Given the description of an element on the screen output the (x, y) to click on. 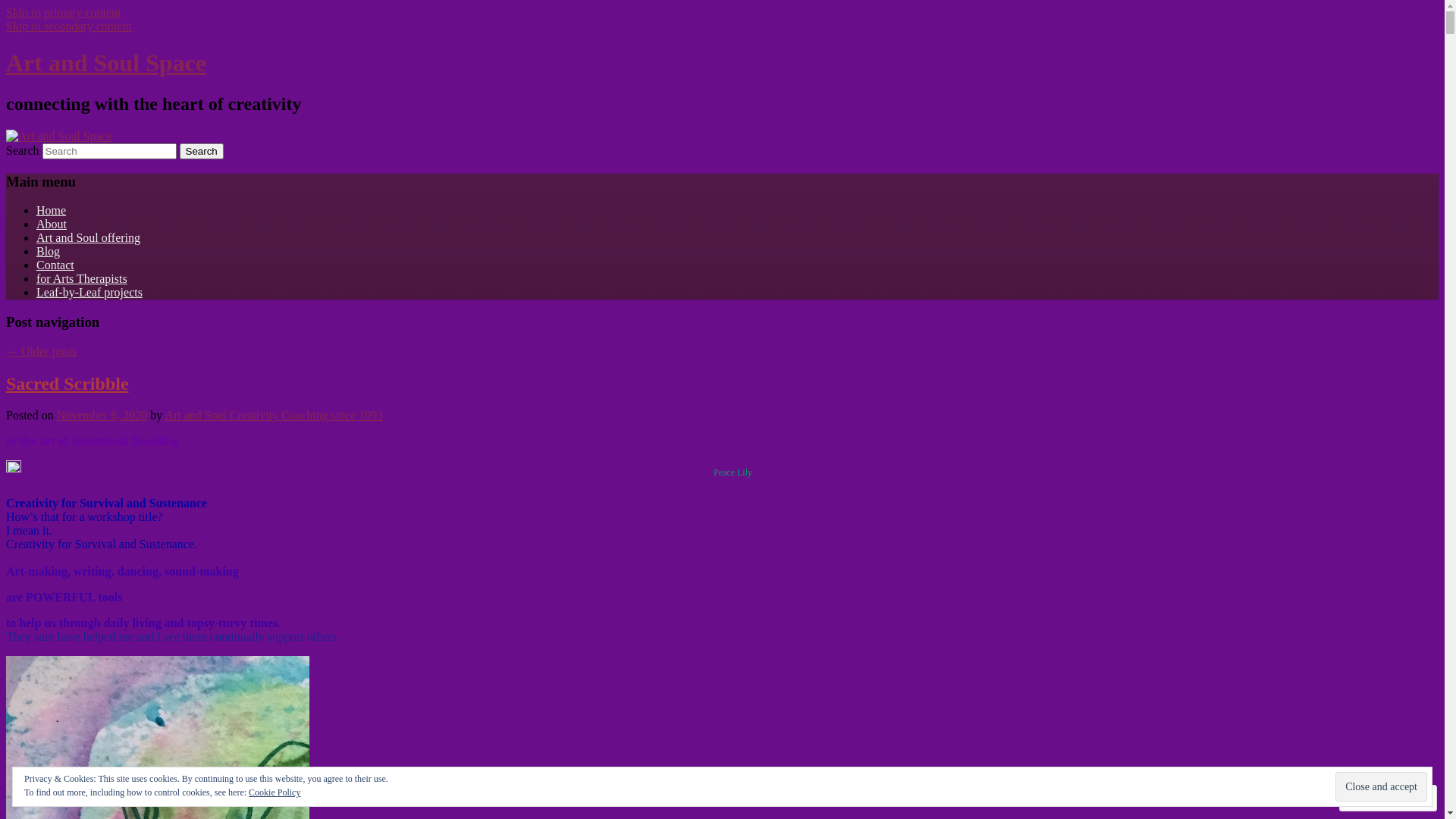
Leaf-by-Leaf projects Element type: text (89, 291)
About Element type: text (51, 223)
Art and Soul offering Element type: text (88, 237)
Cookie Policy Element type: text (274, 792)
Sacred Scribble Element type: text (67, 383)
Skip to secondary content Element type: text (68, 25)
Follow Element type: text (1373, 797)
Skip to primary content Element type: text (63, 12)
for Arts Therapists Element type: text (81, 278)
Home Element type: text (50, 209)
Close and accept Element type: text (1381, 786)
Art and Soul Space Element type: text (106, 62)
Search Element type: text (201, 151)
Art and Soul Creativity Coaching since 1993 Element type: text (273, 414)
November 6, 2020 Element type: text (101, 414)
Contact Element type: text (55, 264)
Blog Element type: text (47, 250)
